Given the description of an element on the screen output the (x, y) to click on. 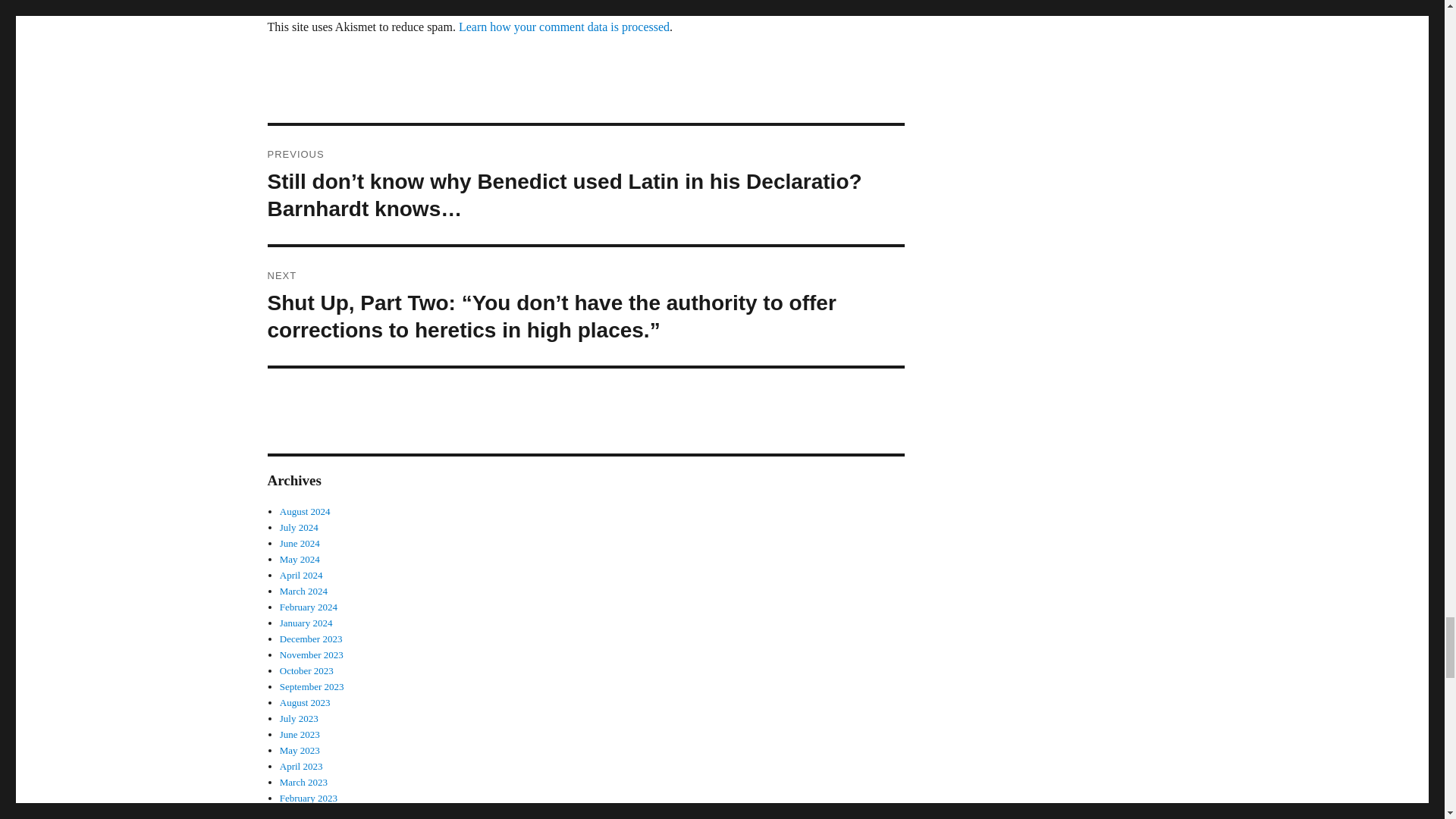
July 2024 (298, 527)
May 2024 (299, 559)
September 2023 (311, 686)
February 2024 (308, 606)
Learn how your comment data is processed (563, 26)
January 2024 (306, 622)
August 2023 (304, 702)
December 2023 (310, 638)
August 2024 (304, 511)
October 2023 (306, 670)
